Given the description of an element on the screen output the (x, y) to click on. 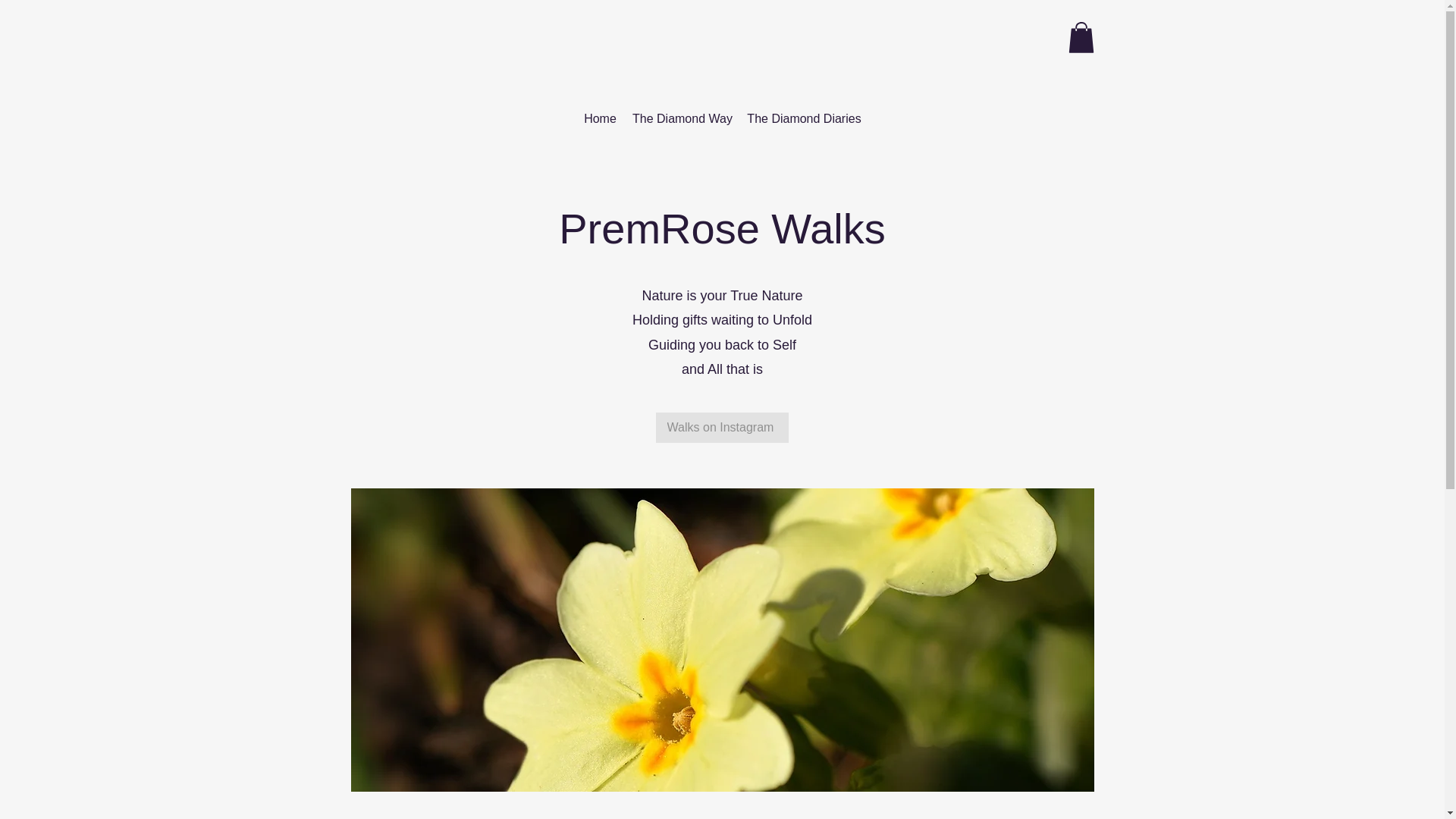
The Diamond Diaries (804, 118)
The Diamond Way (681, 118)
Home (599, 118)
Walks on Instagram (721, 427)
